Given the description of an element on the screen output the (x, y) to click on. 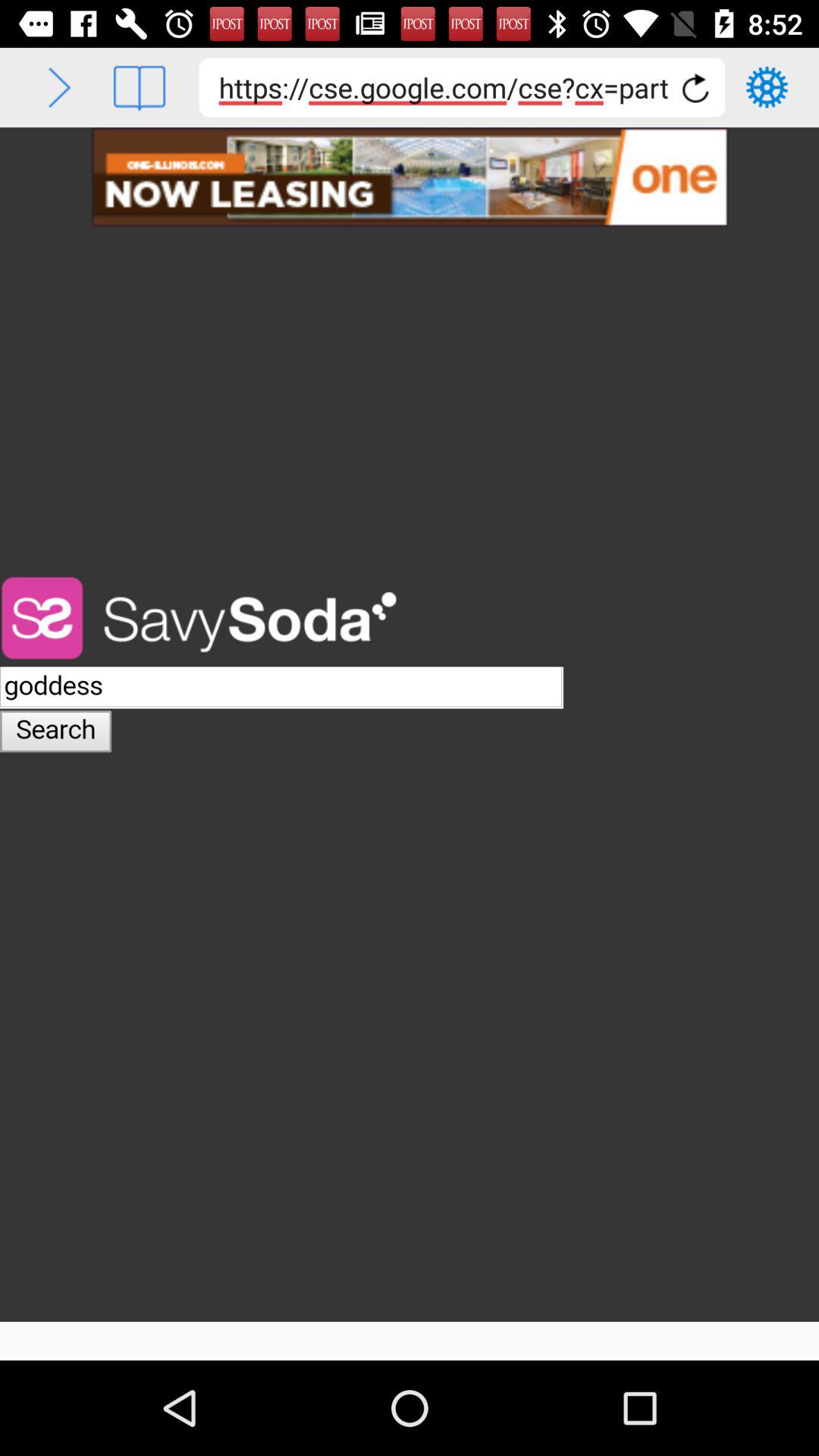
settings (766, 87)
